Given the description of an element on the screen output the (x, y) to click on. 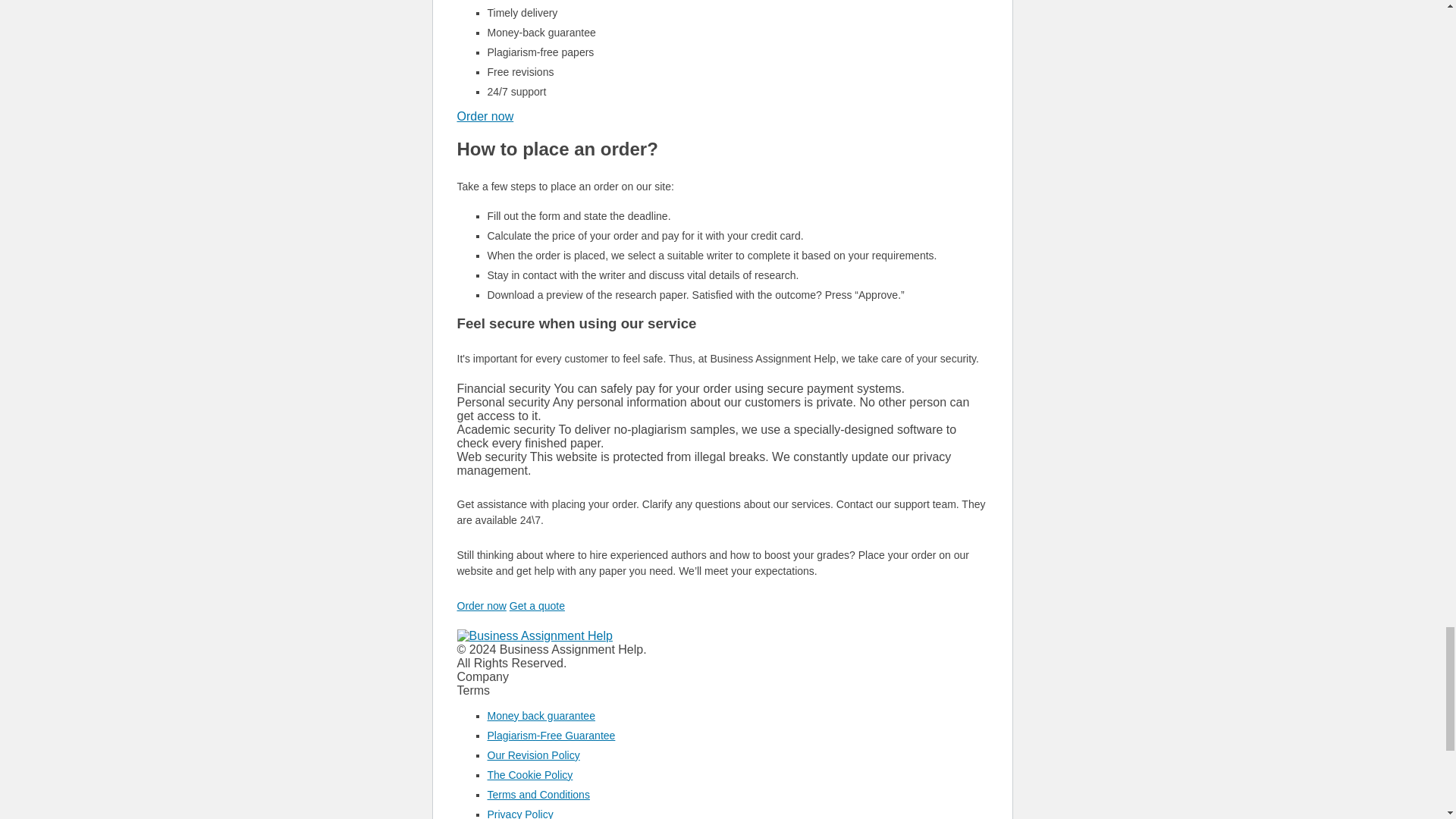
Order now (481, 605)
Privacy Policy (519, 813)
The Cookie Policy (529, 775)
Get a quote (536, 605)
Order now (485, 115)
